Given the description of an element on the screen output the (x, y) to click on. 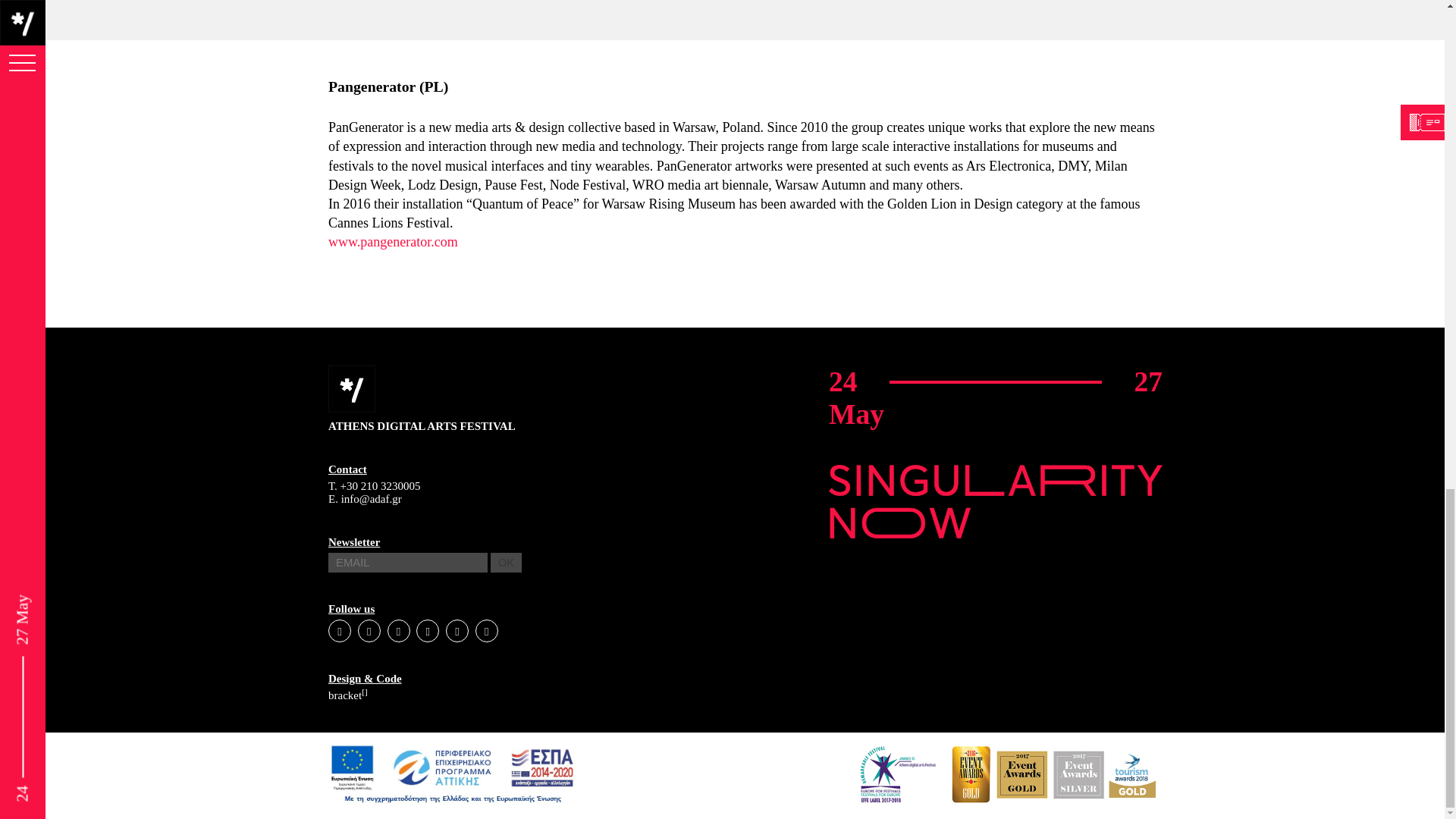
OK (505, 562)
www.pangenerator.com (392, 241)
OK (505, 562)
